Given the description of an element on the screen output the (x, y) to click on. 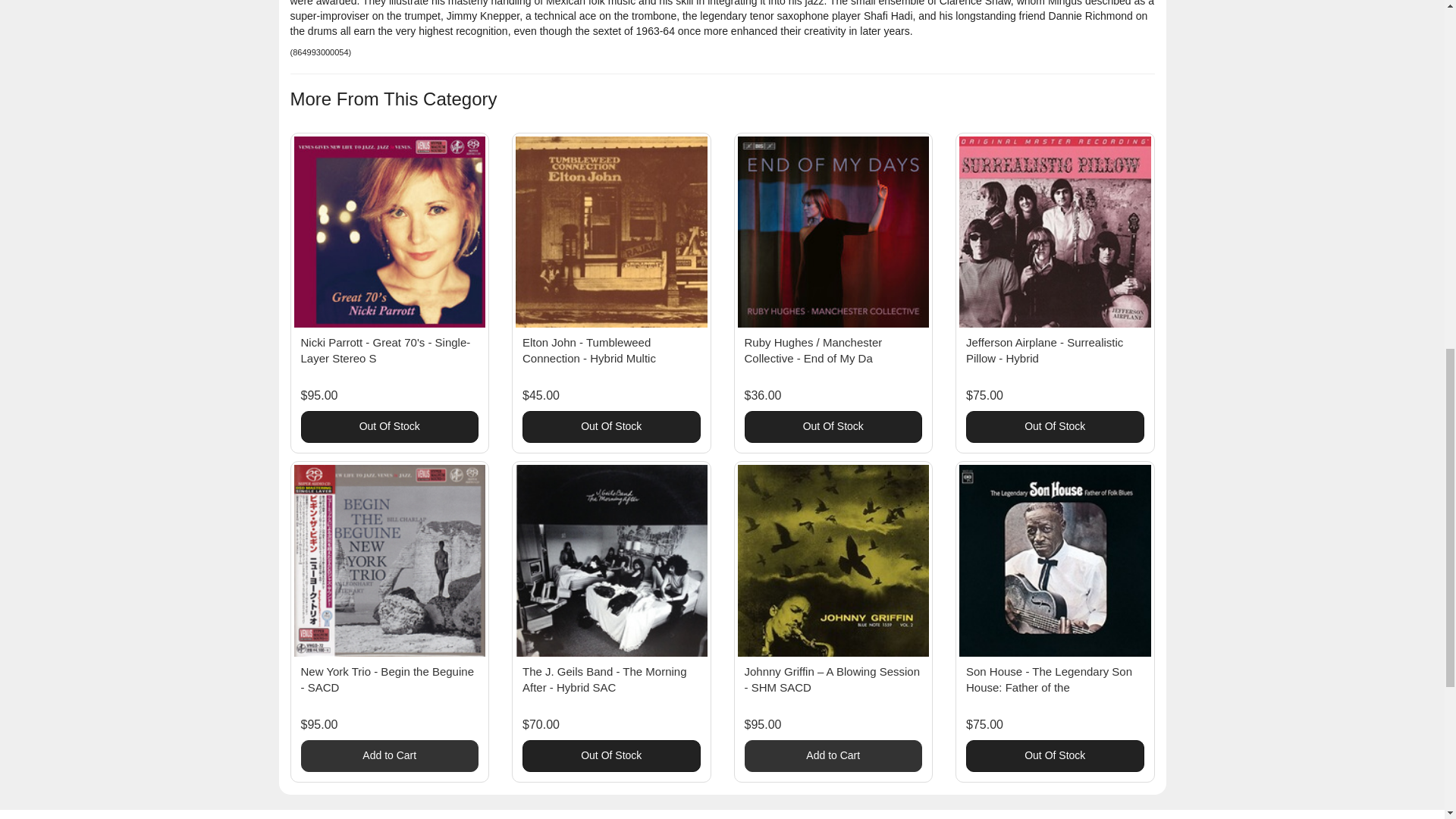
Add to Cart (833, 756)
Jefferson Airplane - Surrealistic Pillow - Hybrid Mono SACD (1044, 349)
Notify Me When Back In Stock (833, 427)
Notify Me When Back In Stock (611, 756)
Notify Me When Back In Stock (611, 427)
Add to Cart (389, 756)
Notify Me When Back In Stock (389, 427)
Notify Me When Back In Stock (1055, 427)
New York Trio - Begin the Beguine - SACD (386, 679)
The J. Geils Band - The Morning After - Hybrid SACD (604, 679)
Nicki Parrott - Great 70's - Single-Layer Stereo SACD (384, 349)
